Given the description of an element on the screen output the (x, y) to click on. 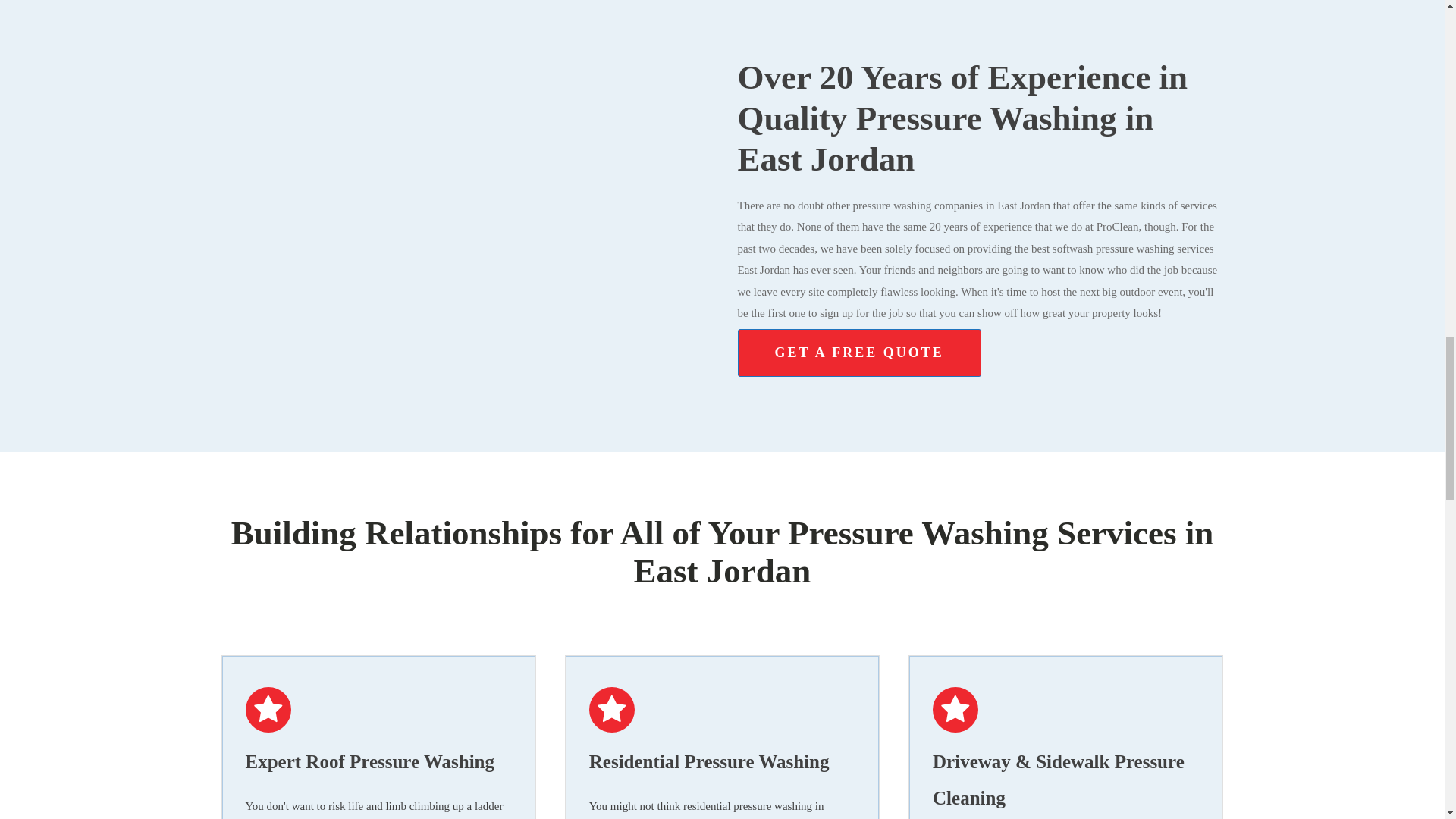
GET A FREE QUOTE (857, 353)
